Given the description of an element on the screen output the (x, y) to click on. 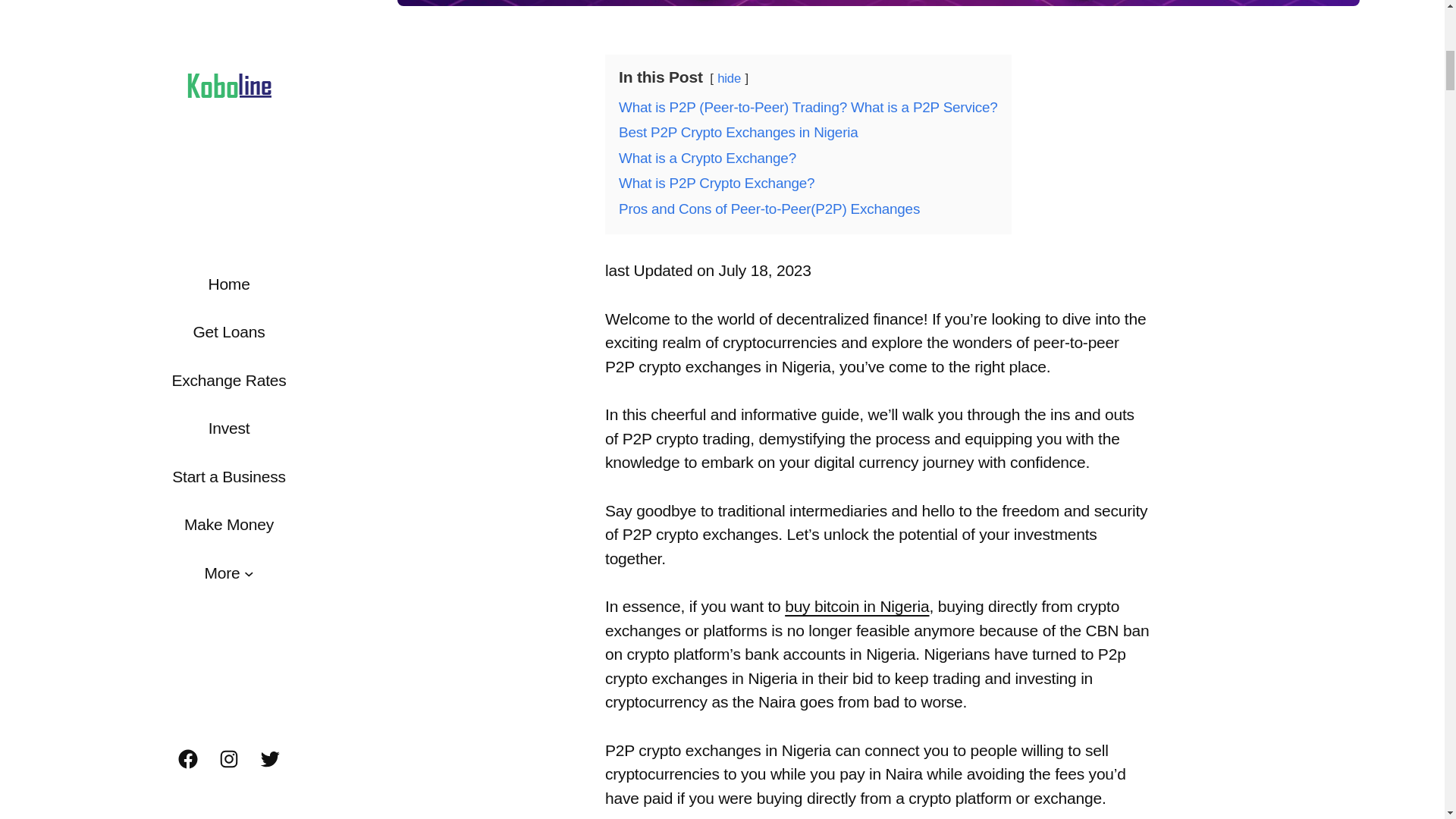
What is P2P Crypto Exchange? (715, 182)
What is a Crypto Exchange? (707, 157)
hide (729, 78)
Best P2P Crypto Exchanges in Nigeria (738, 132)
